Given the description of an element on the screen output the (x, y) to click on. 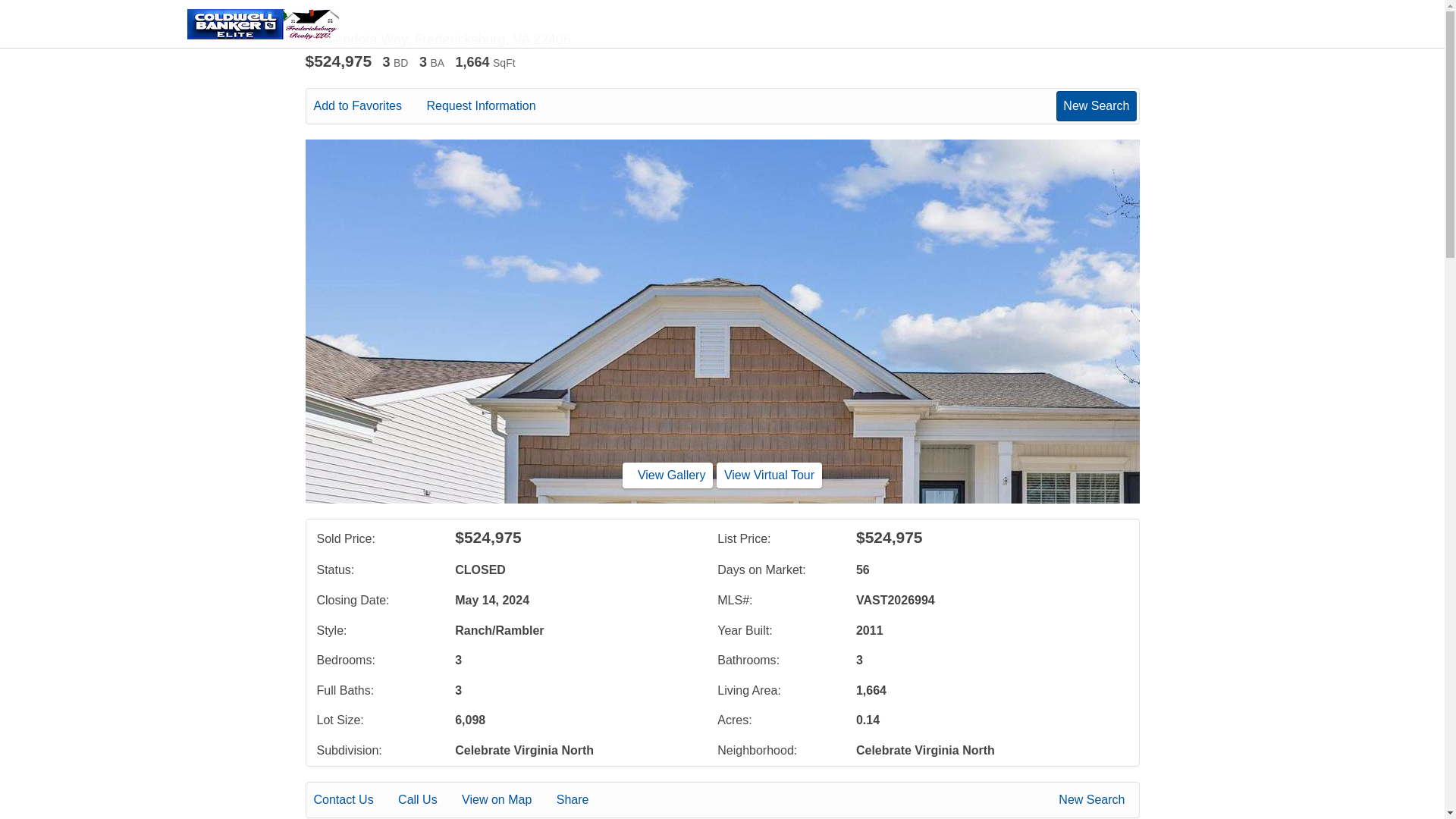
View Virtual Tour (769, 475)
Add to Favorites (368, 106)
New Search (1096, 105)
View Gallery (668, 475)
Share (583, 799)
Call Us (427, 799)
Contact Us (354, 799)
View Gallery (668, 474)
View on Map (507, 799)
New Search (1094, 799)
